Given the description of an element on the screen output the (x, y) to click on. 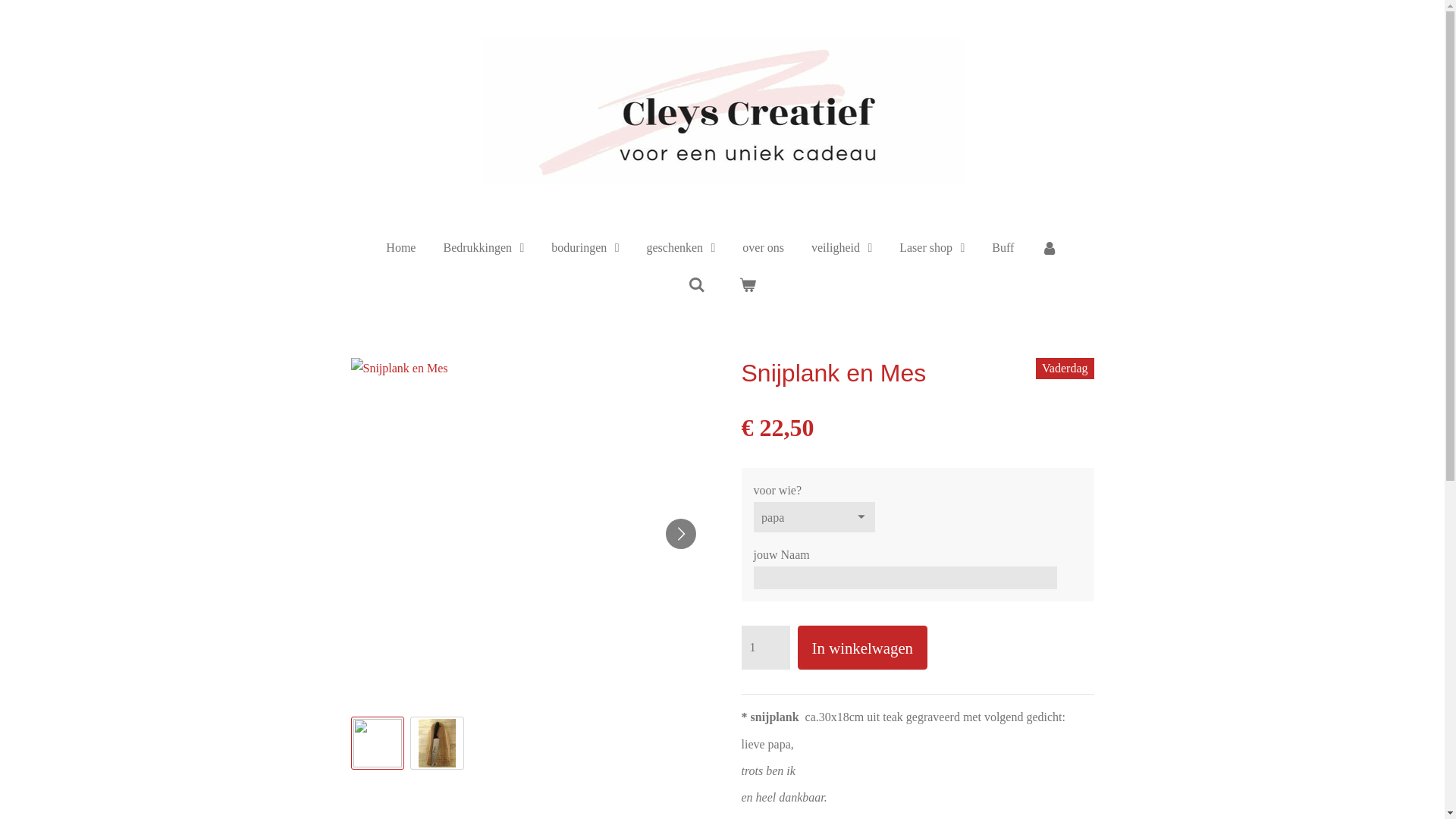
Cleys-Creatief Element type: hover (722, 110)
Bedrukkingen Element type: text (483, 248)
Zoeken Element type: hover (696, 285)
Home Element type: text (400, 248)
Account Element type: hover (1049, 248)
In winkelwagen Element type: text (862, 647)
over ons Element type: text (762, 248)
Buff Element type: text (1002, 248)
boduringen Element type: text (584, 248)
geschenken Element type: text (680, 248)
Winkelwagen Element type: hover (744, 285)
Laser shop Element type: text (931, 248)
veiligheid Element type: text (841, 248)
